Given the description of an element on the screen output the (x, y) to click on. 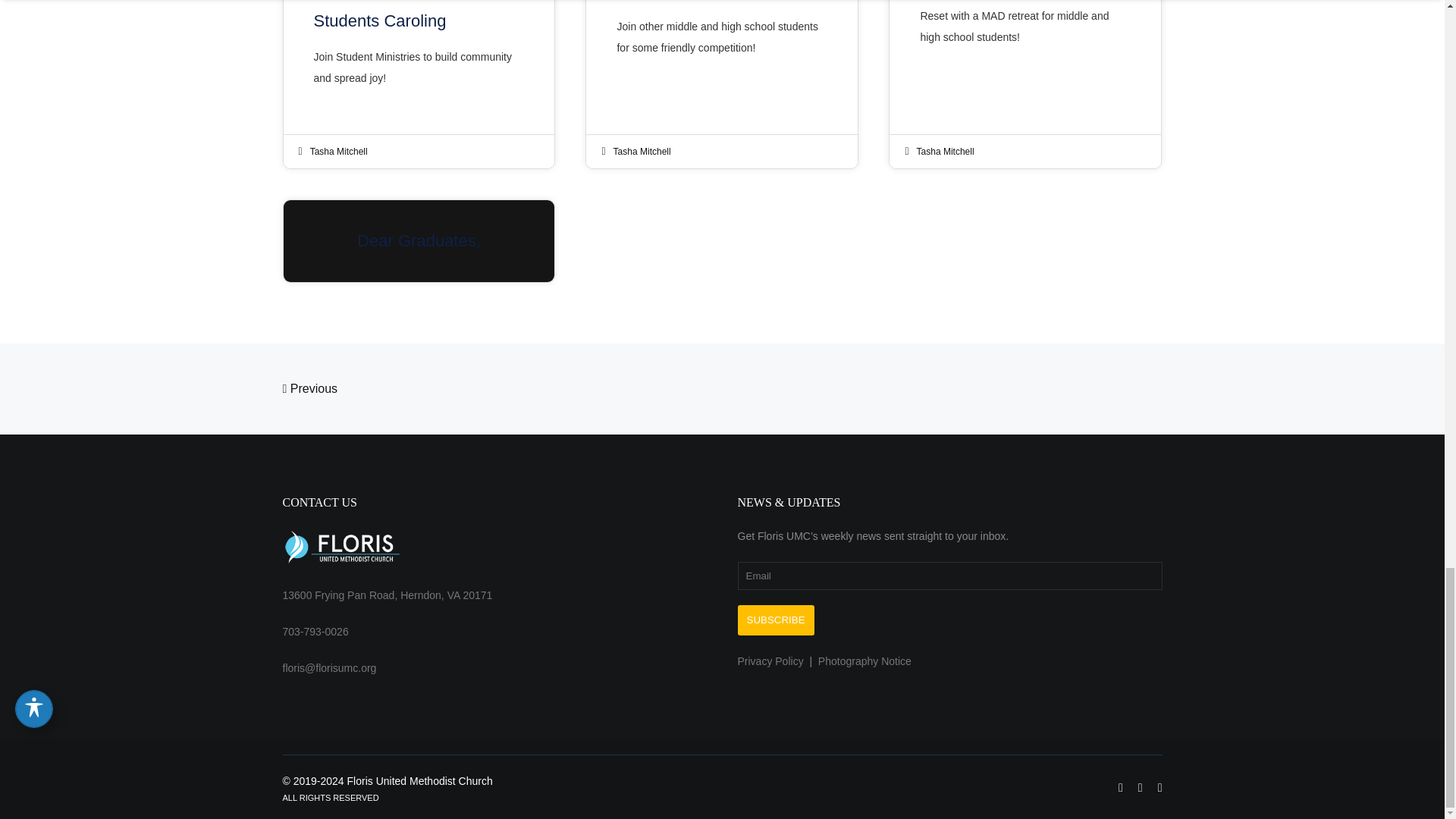
Email (948, 575)
Subscribe (774, 620)
